Given the description of an element on the screen output the (x, y) to click on. 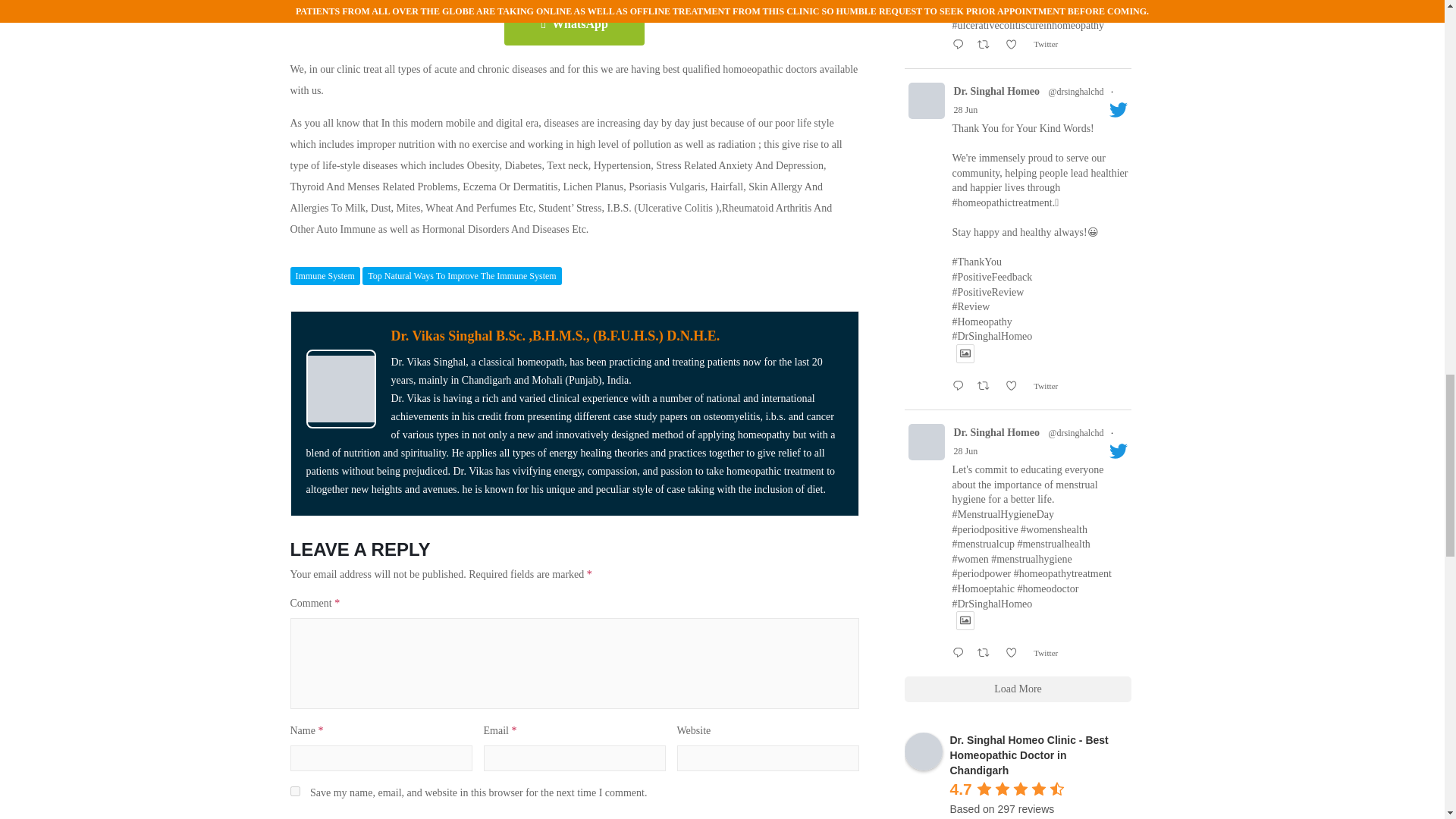
yes (294, 791)
